Given the description of an element on the screen output the (x, y) to click on. 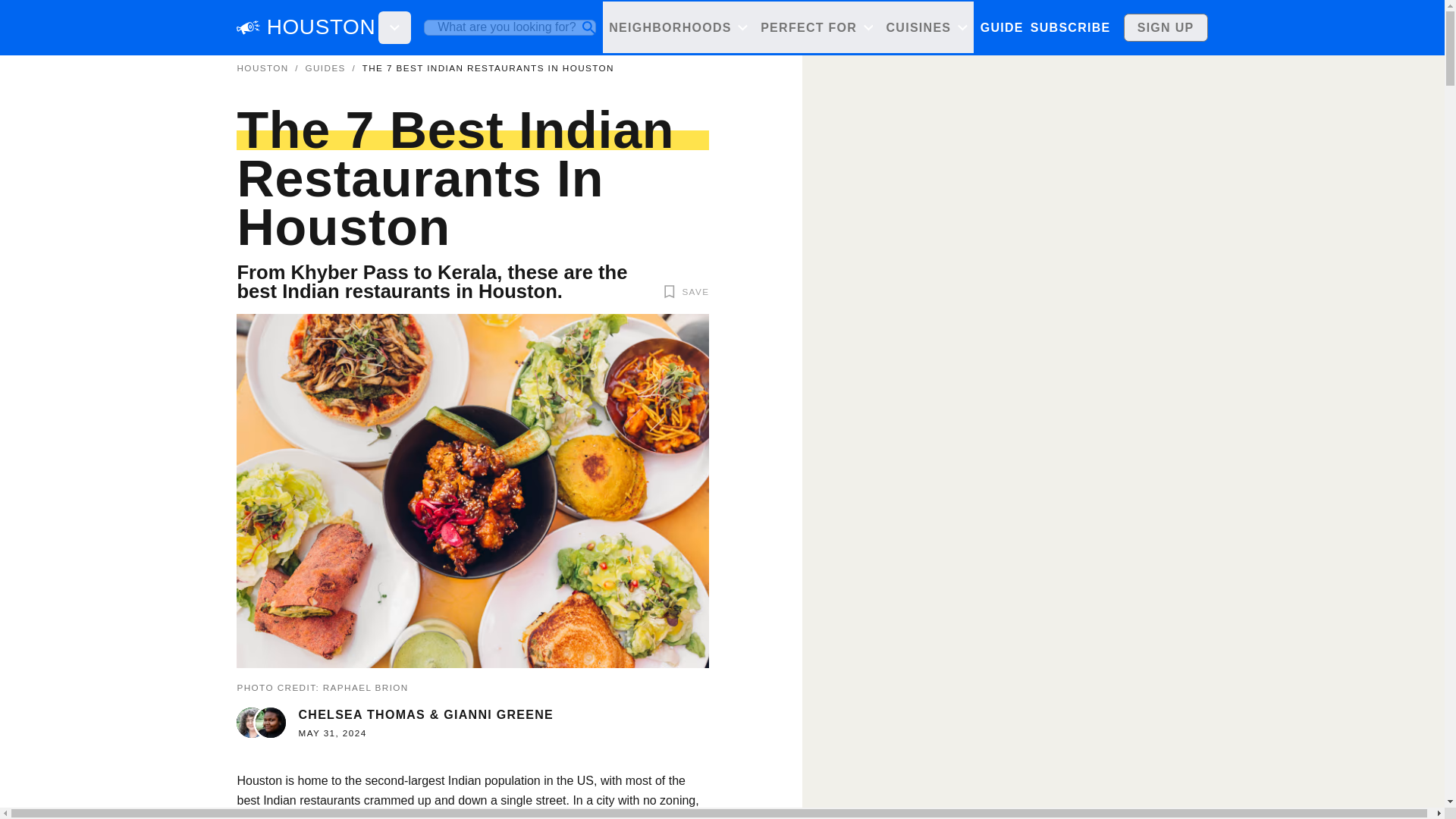
GUIDES (324, 67)
NEIGHBORHOODS (678, 27)
HOUSTON (261, 67)
PERFECT FOR (816, 27)
CUISINES (926, 27)
REVIEWS (1077, 27)
SAVE (684, 291)
What are you looking for? (509, 27)
GUIDES (1006, 27)
SIGN UP (1166, 27)
HOUSTON (320, 26)
SUBSCRIBE (1069, 27)
